Given the description of an element on the screen output the (x, y) to click on. 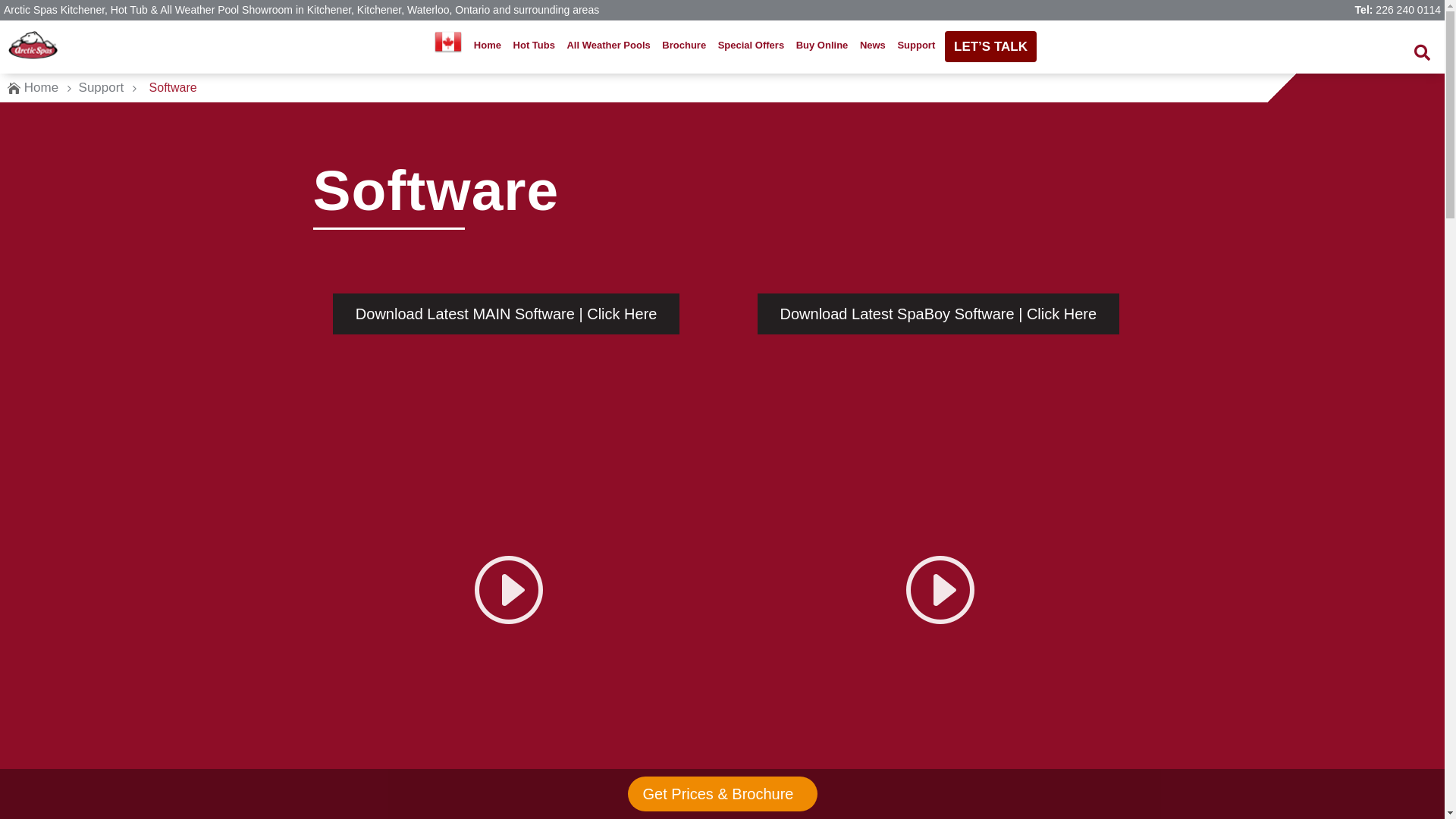
Special Offers Element type: text (751, 45)
All Weather Pools Element type: text (608, 45)
Support Element type: text (915, 45)
Download Latest MAIN Software | Click Here Element type: text (506, 313)
Brochure Element type: text (683, 45)
Buy Online Element type: text (821, 45)
News Element type: text (872, 45)
Get Prices & Brochure Element type: text (721, 793)
Support Element type: text (101, 87)
226 240 0114 Element type: text (1407, 9)
2020 Arctic Spas - Updating Linux Processor Card Firmware Element type: hover (937, 587)
2020 Arctic Spas - Updating Yocto Firmware Element type: hover (505, 587)
Download Latest SpaBoy Software | Click Here Element type: text (938, 313)
Choose Your Location Element type: hover (447, 45)
Home Element type: text (41, 87)
Choose Your Location Element type: hover (447, 41)
Hot Tubs Element type: text (533, 45)
Home Element type: text (487, 45)
